Given the description of an element on the screen output the (x, y) to click on. 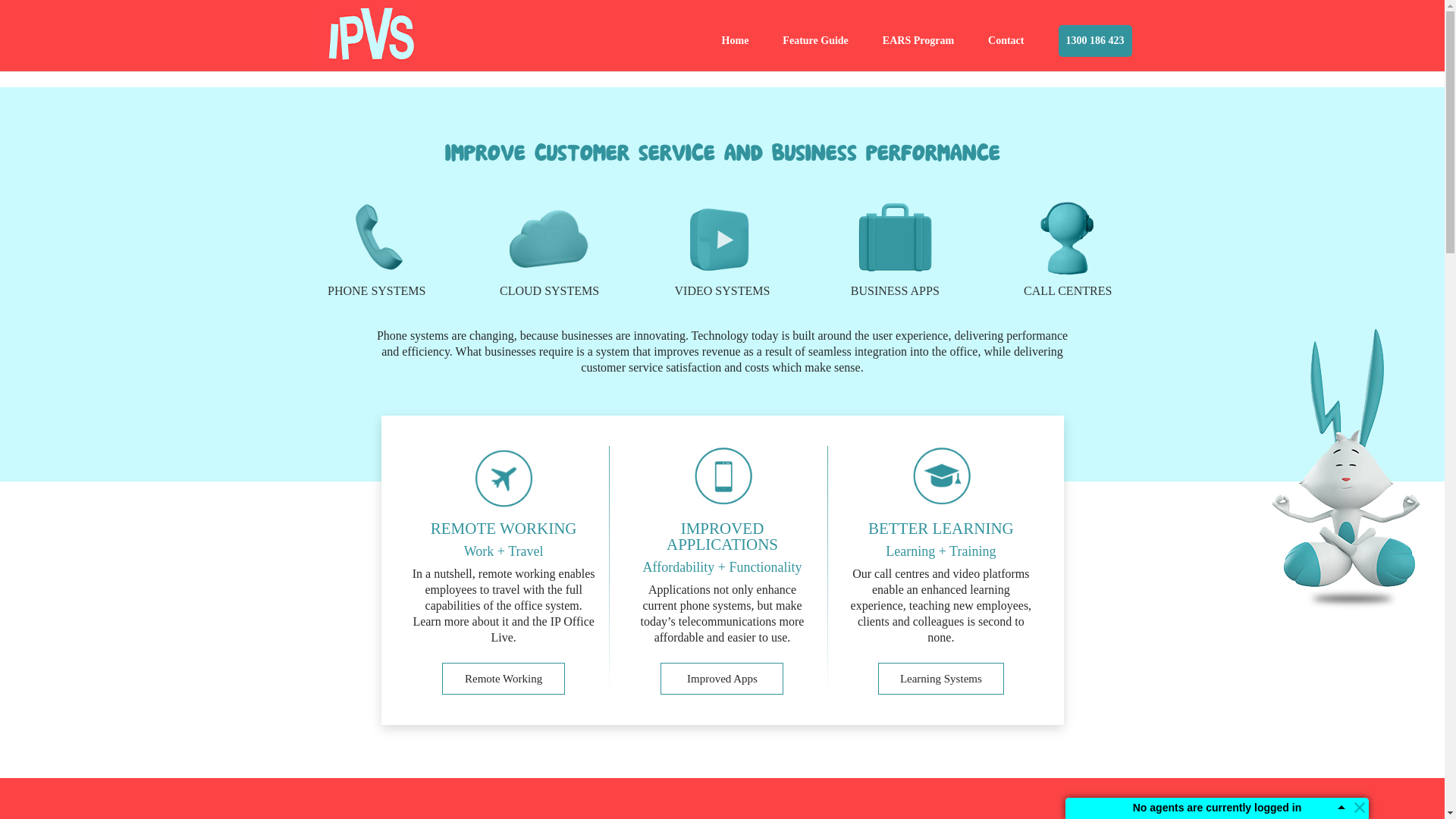
Improved Apps Element type: text (721, 678)
Home Element type: text (735, 53)
robot-new Element type: hover (1345, 459)
Learning Systems Element type: text (941, 678)
Remote Working Element type: text (503, 678)
Contact Element type: text (1005, 53)
EARS Program Element type: text (917, 53)
1300 186 423 Element type: text (1095, 40)
Feature Guide Element type: text (814, 53)
